Given the description of an element on the screen output the (x, y) to click on. 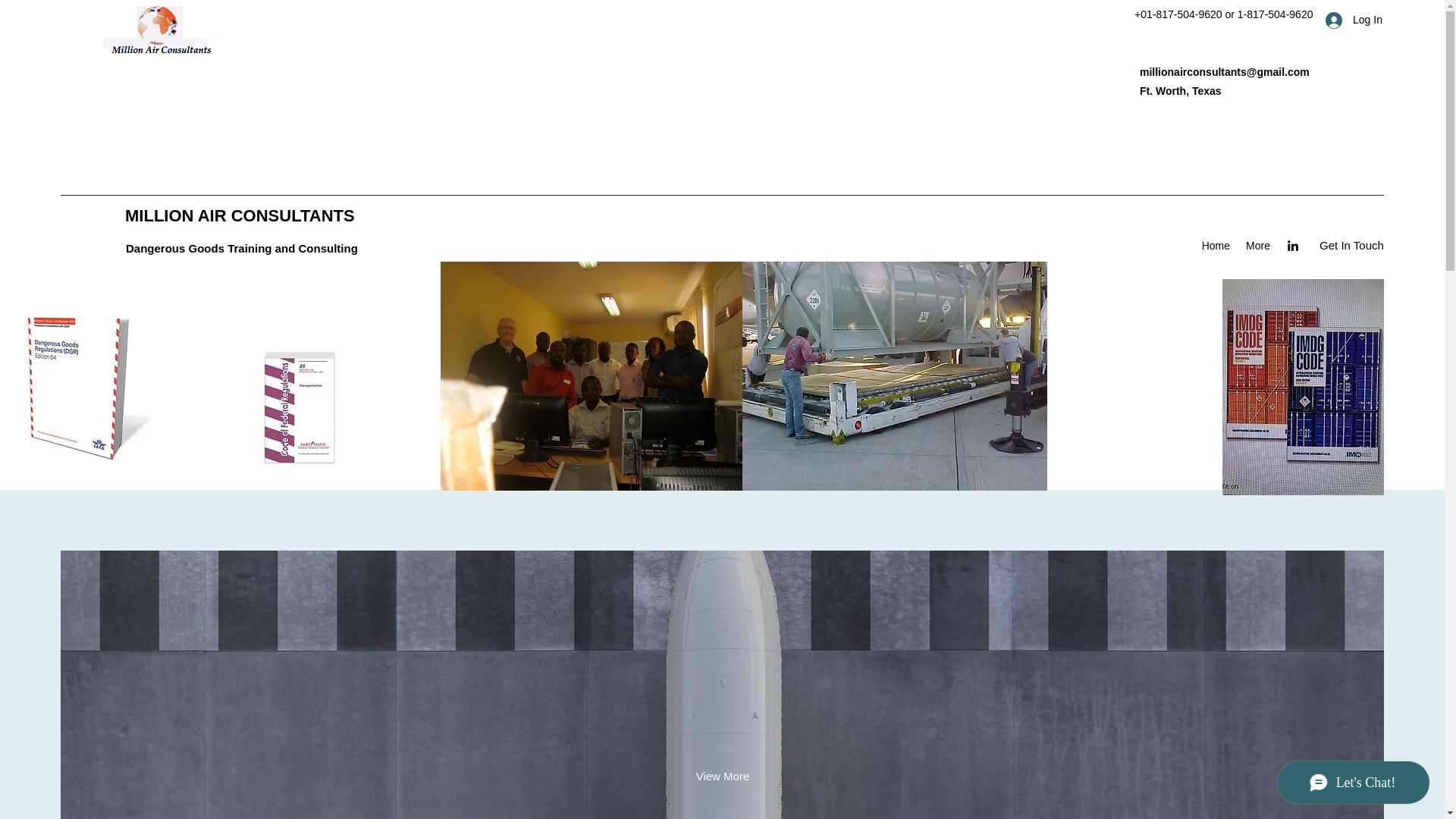
MILLION AIR CONSULTANTS (240, 215)
49CFR.jpg (298, 407)
Home (1215, 245)
IATA 64 .jpg (82, 387)
Log In (1348, 19)
